Given the description of an element on the screen output the (x, y) to click on. 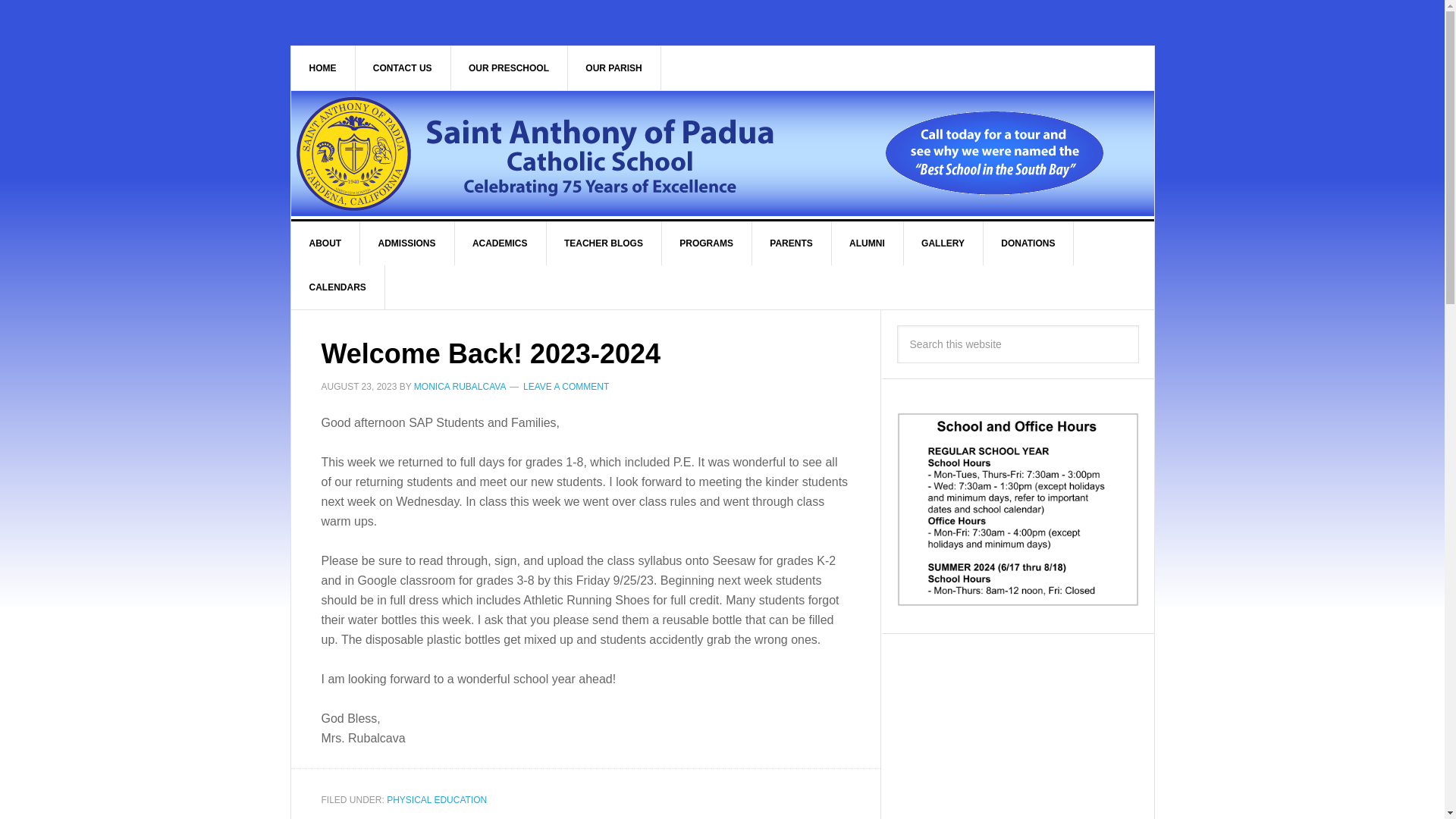
SAINT ANTHONY OF PADUA SCHOOL, GARDENA, CA (556, 153)
ABOUT (326, 243)
ACADEMICS (500, 243)
YouTube video player (1017, 734)
TEACHER BLOGS (604, 243)
OUR PRESCHOOL (508, 67)
OUR PARISH (614, 67)
CONTACT US (403, 67)
HOME (323, 67)
ADMISSIONS (406, 243)
